Given the description of an element on the screen output the (x, y) to click on. 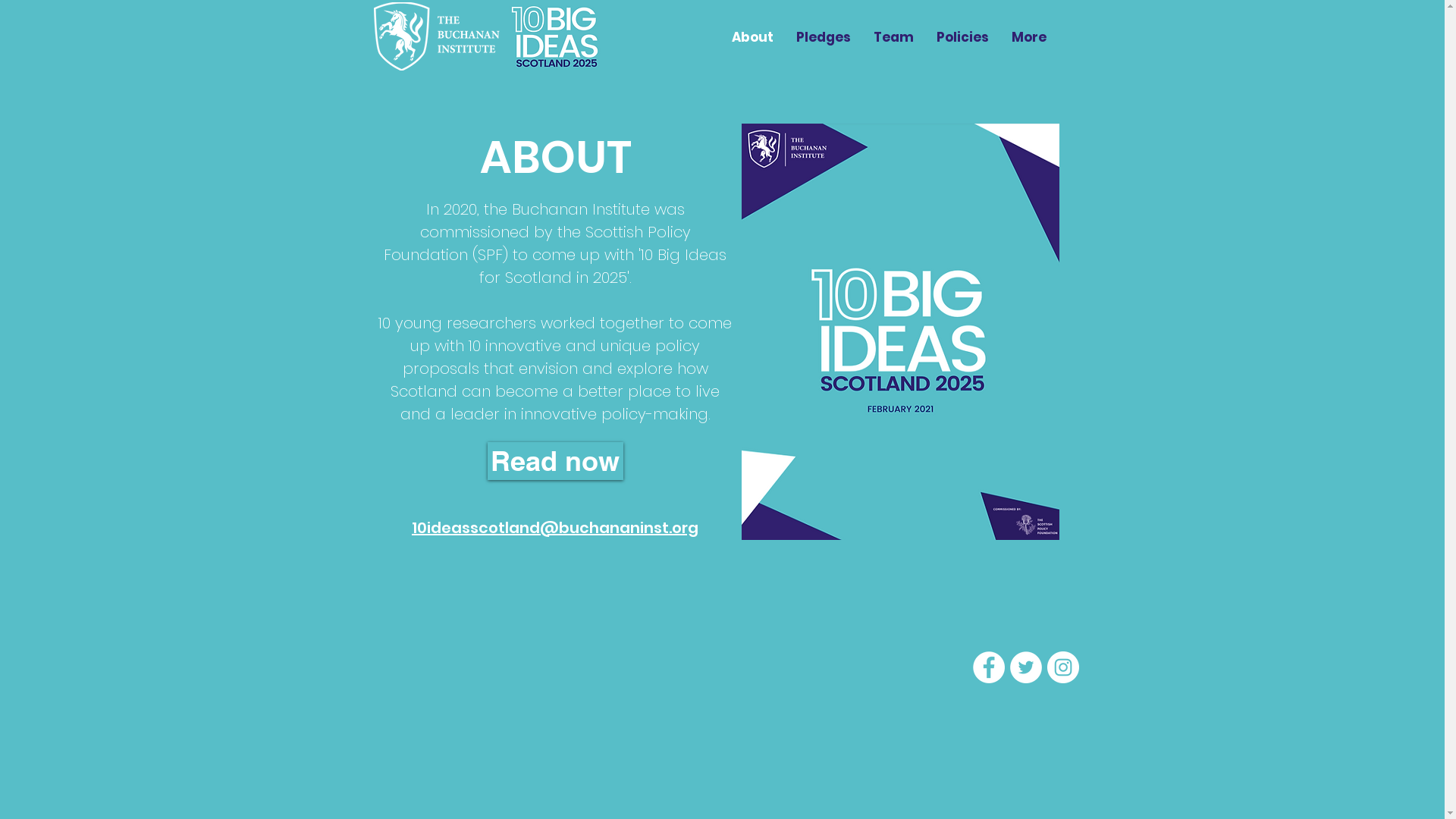
Team Element type: text (892, 36)
Read now Element type: text (554, 461)
About Element type: text (752, 36)
10ideasscotland@buchananinst.org Element type: text (554, 527)
